Given the description of an element on the screen output the (x, y) to click on. 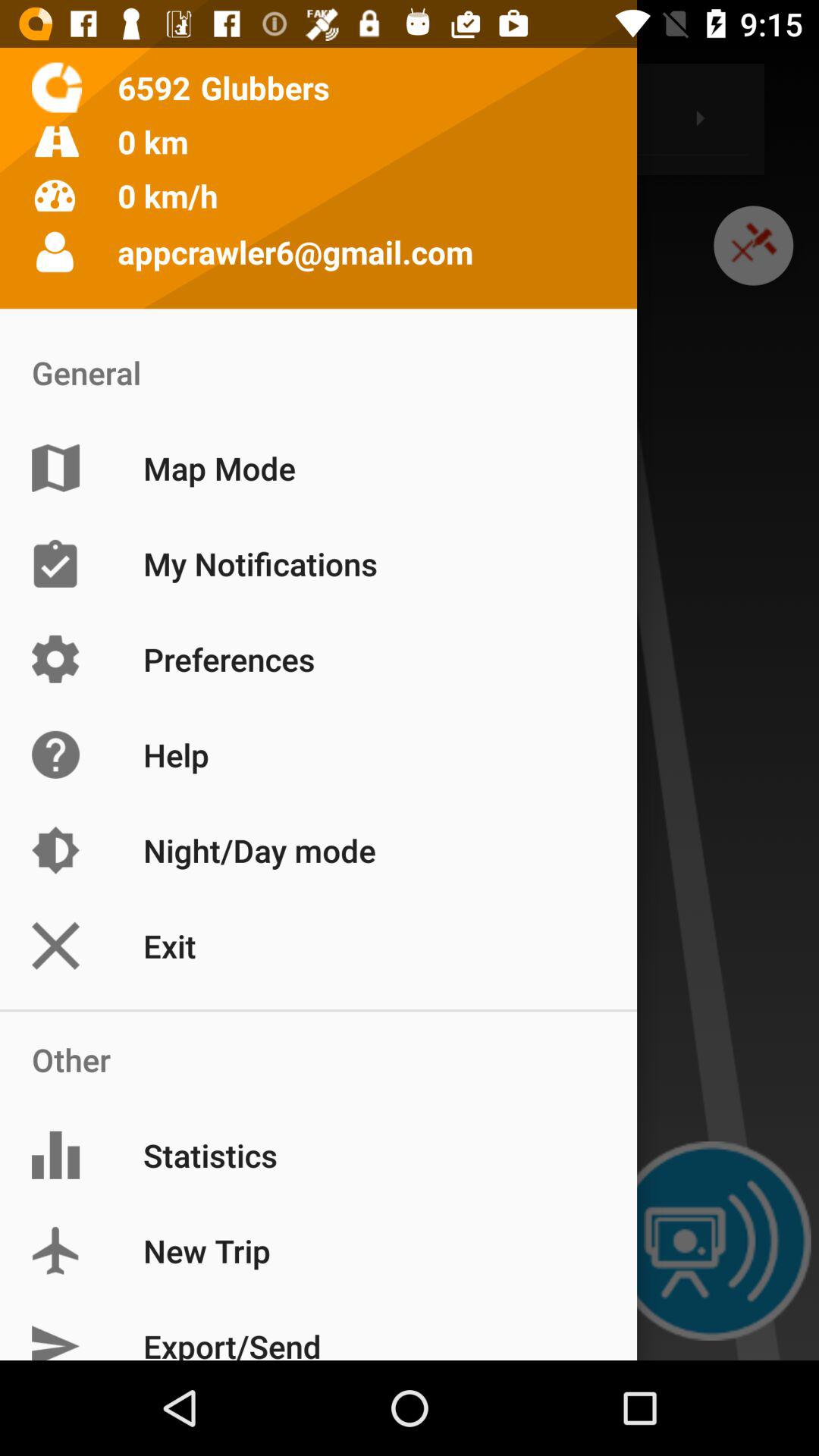
select text next to human icon on left side (295, 251)
